Given the description of an element on the screen output the (x, y) to click on. 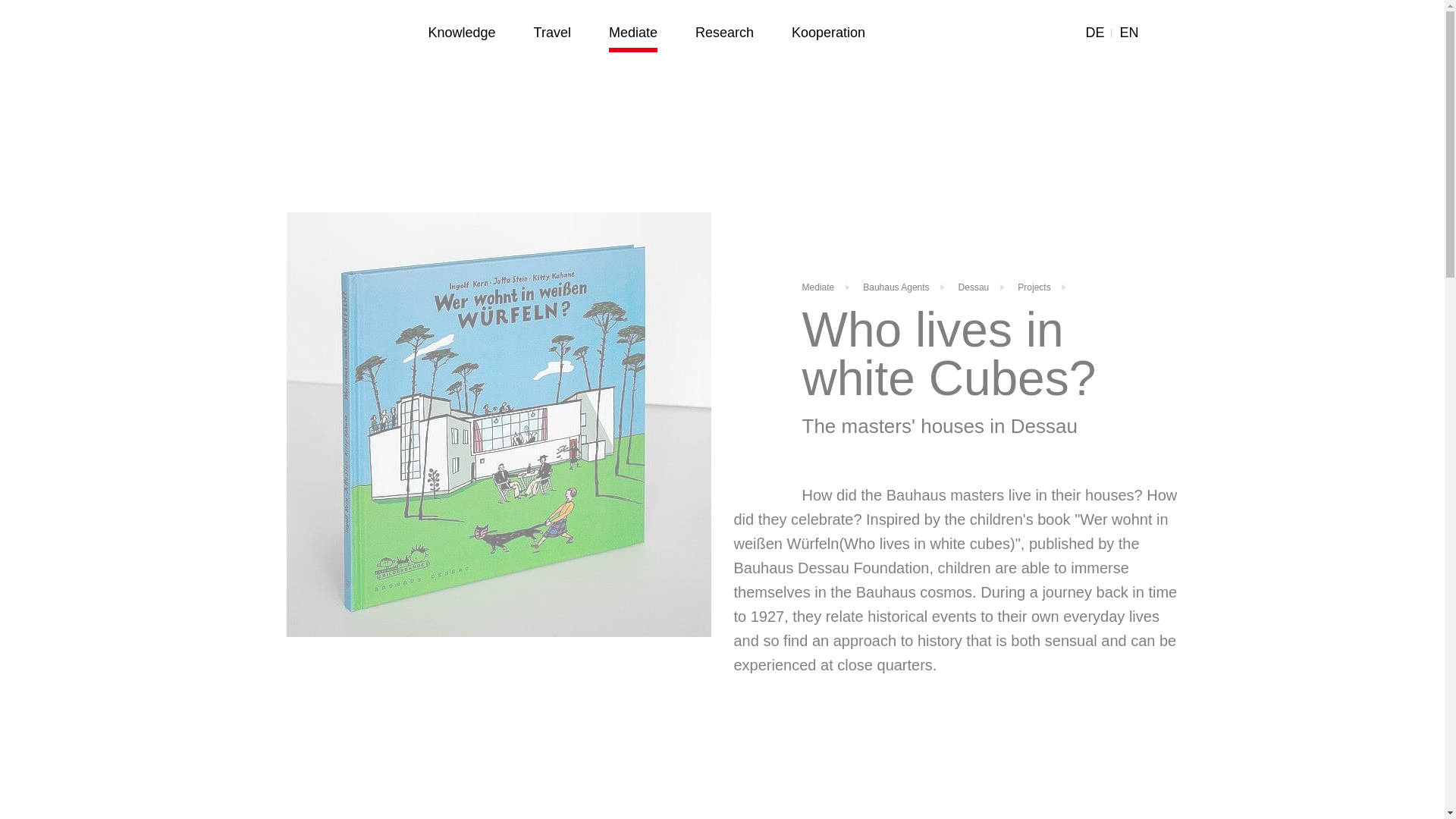
Projects (1033, 287)
DE (1094, 33)
Mediate (818, 287)
Dessau (974, 287)
Kooperation (828, 33)
MediateBauhaus AgentsDessauProjects (991, 292)
Search (1163, 32)
To the top (1395, 815)
Back to start page (338, 39)
Bauhaus Agents (895, 287)
EN (1128, 33)
